Given the description of an element on the screen output the (x, y) to click on. 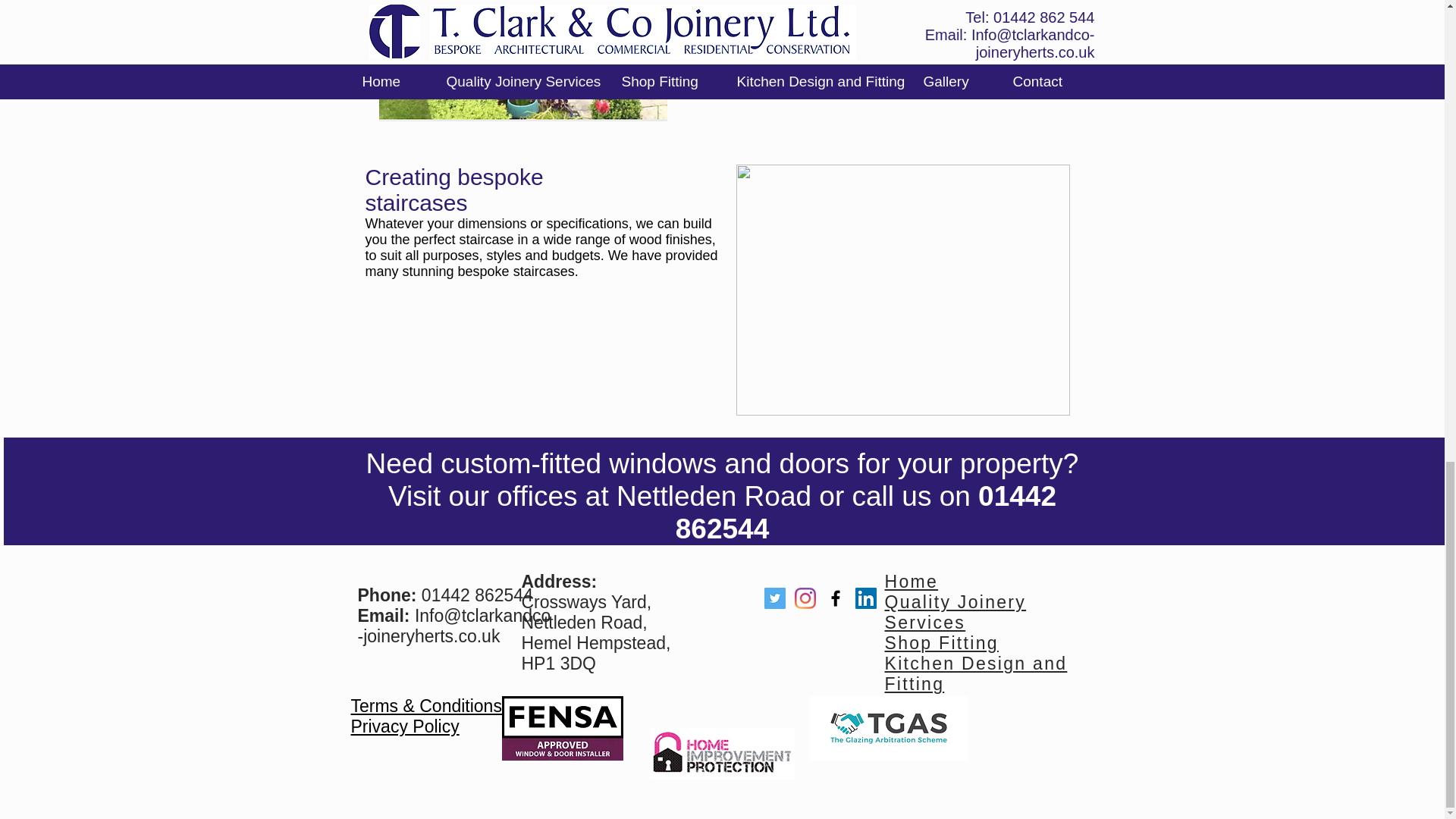
Quality Joinery Services (954, 612)
Gallery  (920, 704)
Capture.PNG (901, 289)
Shop Fitting (940, 642)
Privacy Policy (404, 726)
Kitchen Design and Fitting (975, 673)
Home (910, 581)
Capture.PNG (522, 60)
shopfitting services (876, 6)
Contact (919, 724)
